Given the description of an element on the screen output the (x, y) to click on. 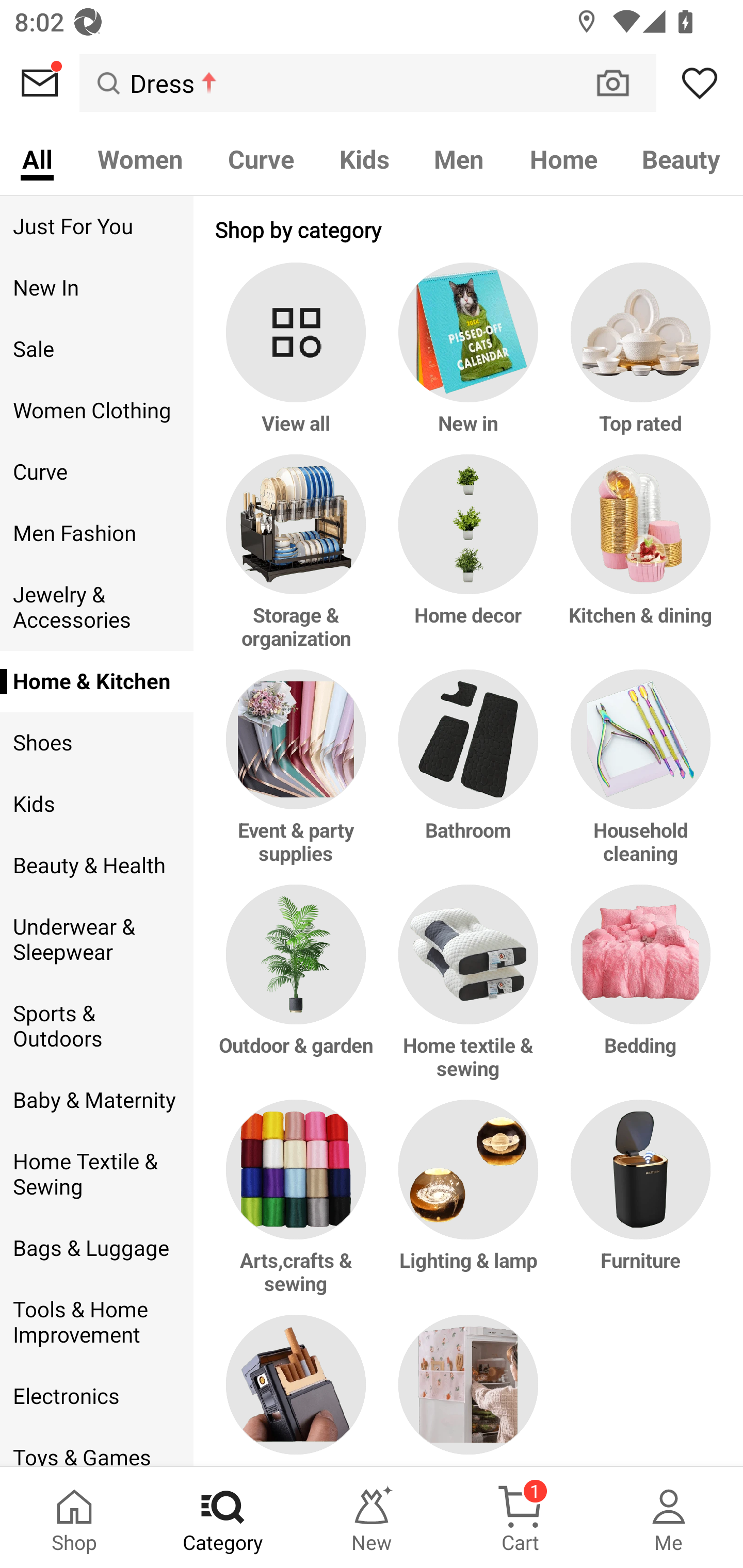
Wishlist (699, 82)
VISUAL SEARCH (623, 82)
All (37, 158)
Women (139, 158)
Curve (260, 158)
Kids (363, 158)
Men (458, 158)
Home (563, 158)
Beauty (681, 158)
Just For You (96, 226)
Shop by category (468, 228)
New In (96, 287)
View all (299, 357)
New in (468, 357)
Top rated (636, 357)
Sale (96, 348)
Women Clothing (96, 410)
Curve (96, 472)
Storage & organization (299, 561)
Home decor (468, 561)
Kitchen & dining (636, 561)
Men Fashion (96, 533)
Jewelry & Accessories (96, 607)
Home & Kitchen (96, 680)
Event & party supplies (299, 776)
Bathroom (468, 776)
Household cleaning (636, 776)
Shoes (96, 742)
Kids (96, 804)
Beauty & Health (96, 865)
Outdoor & garden (299, 991)
Home textile & sewing (468, 991)
Bedding (636, 991)
Underwear & Sleepwear (96, 939)
Sports & Outdoors (96, 1026)
Baby & Maternity (96, 1099)
Arts,crafts & sewing (299, 1206)
Lighting & lamp (468, 1206)
Furniture (636, 1206)
Home Textile & Sewing (96, 1174)
Bags & Luggage (96, 1248)
Tools & Home Improvement (96, 1322)
Home essentials (299, 1389)
Household merchandises (468, 1389)
Electronics (96, 1395)
Toys & Games (96, 1446)
Shop (74, 1517)
New (371, 1517)
Cart 1 Cart (519, 1517)
Me (668, 1517)
